Given the description of an element on the screen output the (x, y) to click on. 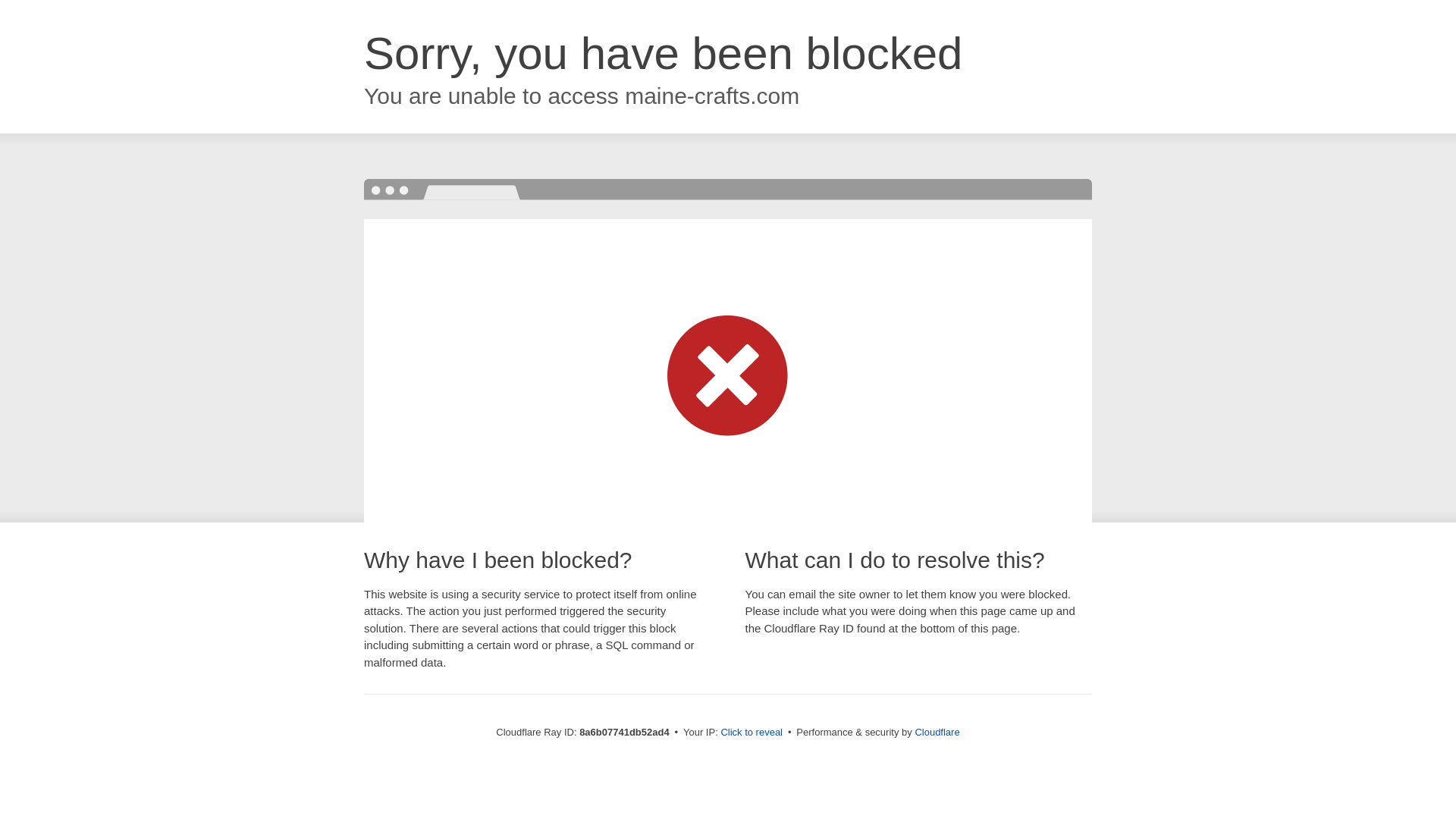
Cloudflare (936, 731)
Click to reveal (751, 732)
